Given the description of an element on the screen output the (x, y) to click on. 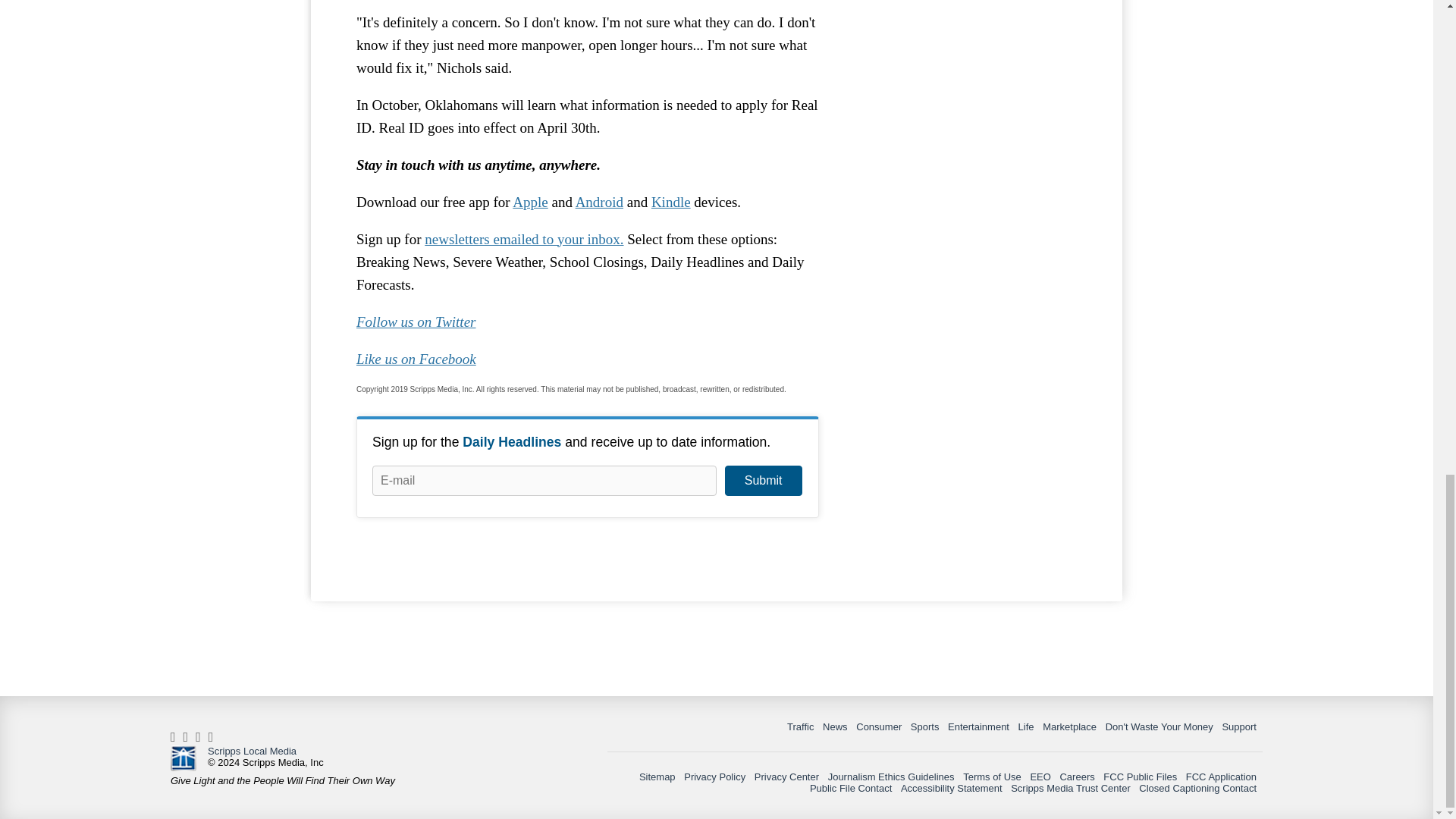
Submit (763, 481)
